Given the description of an element on the screen output the (x, y) to click on. 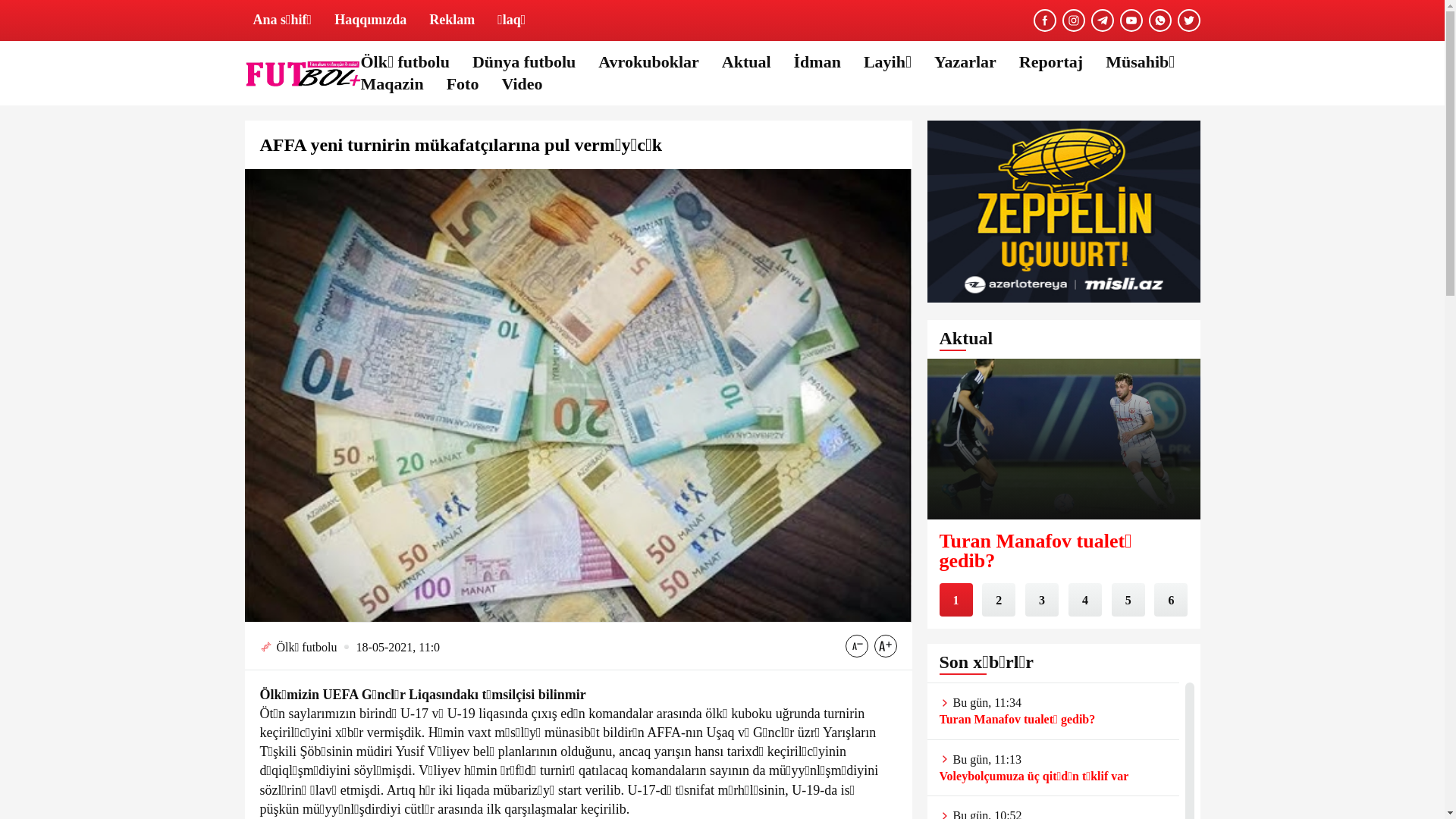
Aktual Element type: text (746, 62)
Video Element type: text (521, 84)
Avrokuboklar Element type: text (648, 62)
Foto Element type: text (462, 84)
Yazarlar Element type: text (965, 62)
Reklam Element type: text (451, 20)
Aktual Element type: text (965, 339)
Maqazin Element type: text (391, 84)
Reportaj Element type: text (1050, 62)
